Given the description of an element on the screen output the (x, y) to click on. 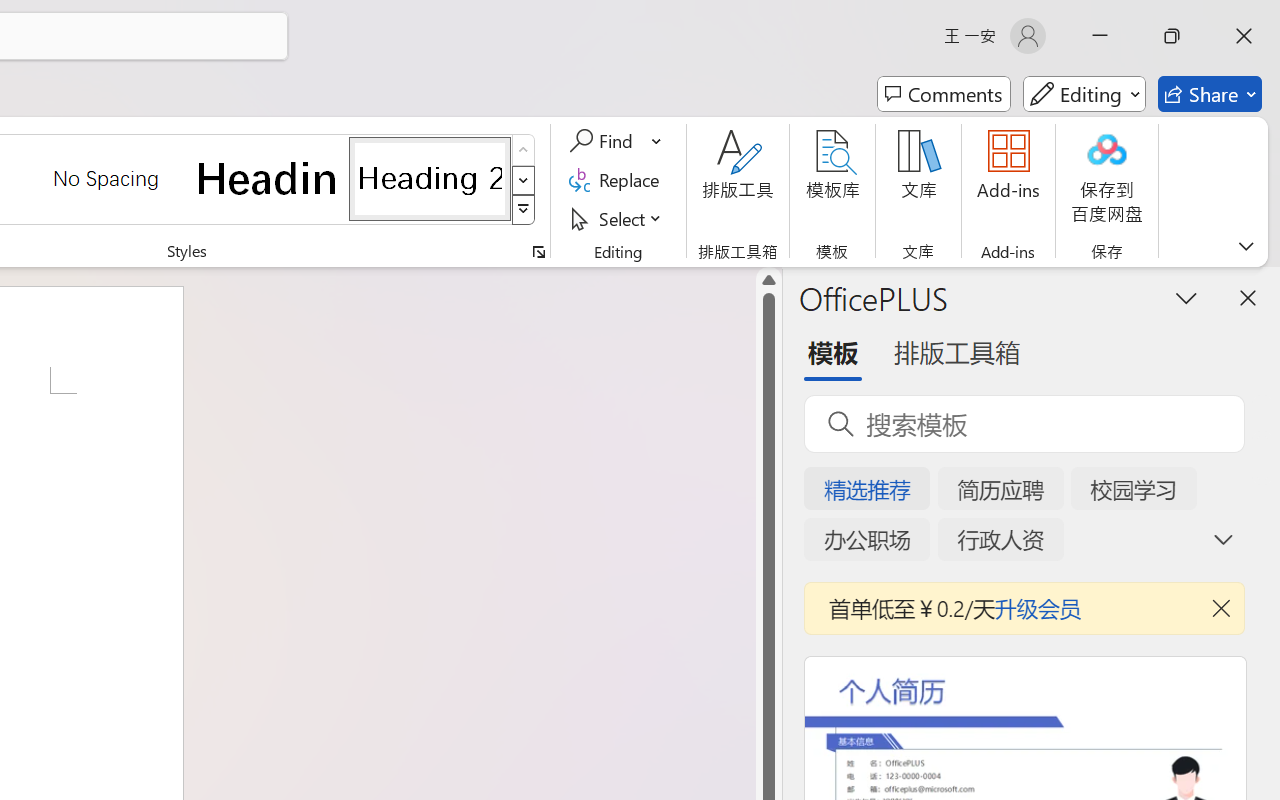
Styles... (538, 252)
More Options (657, 141)
Heading 2 (429, 178)
Find (604, 141)
Row up (523, 150)
